Given the description of an element on the screen output the (x, y) to click on. 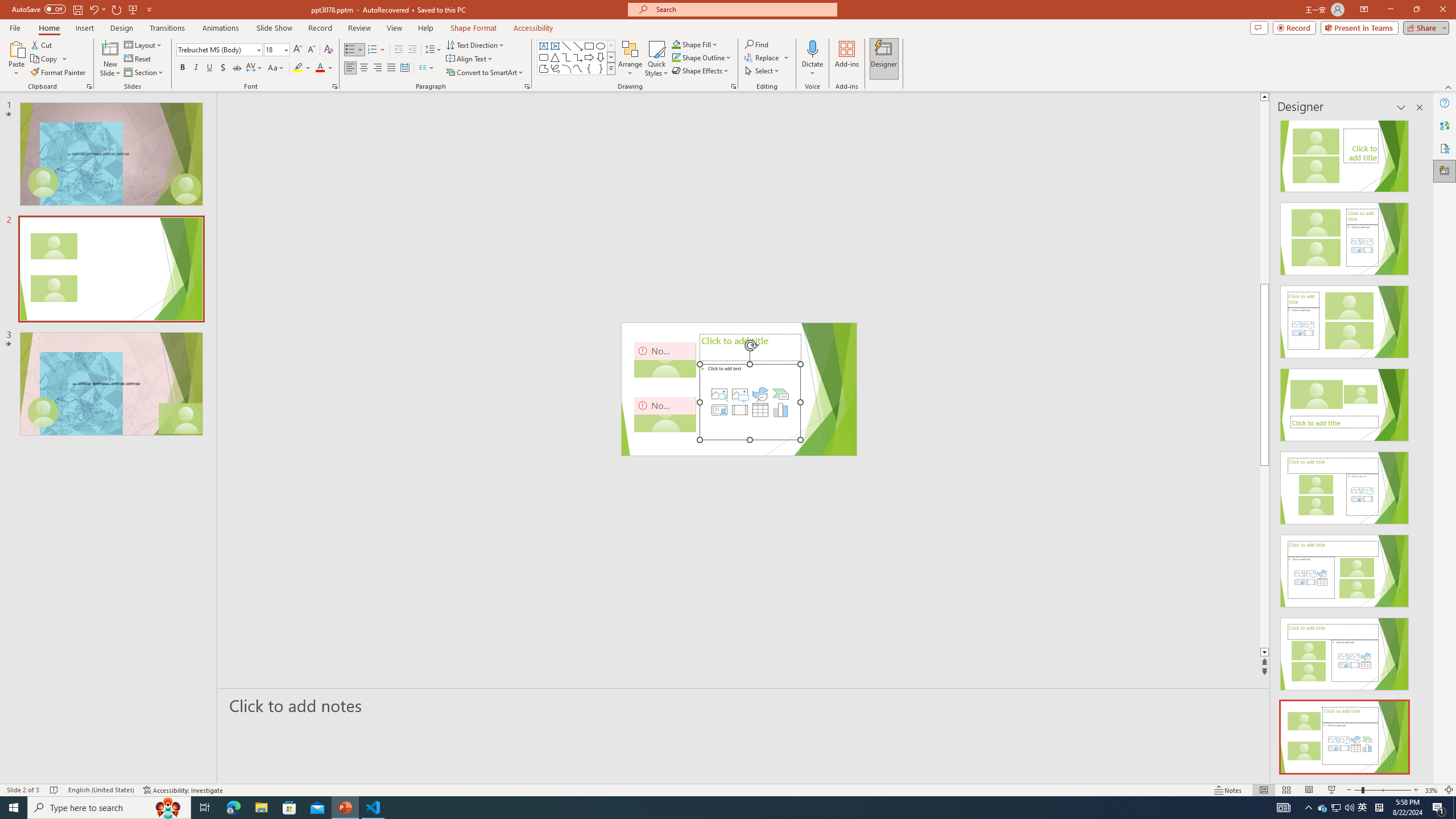
Insert Cameo (719, 409)
Class: NetUIScrollBar (1418, 447)
Insert Table (760, 409)
